Given the description of an element on the screen output the (x, y) to click on. 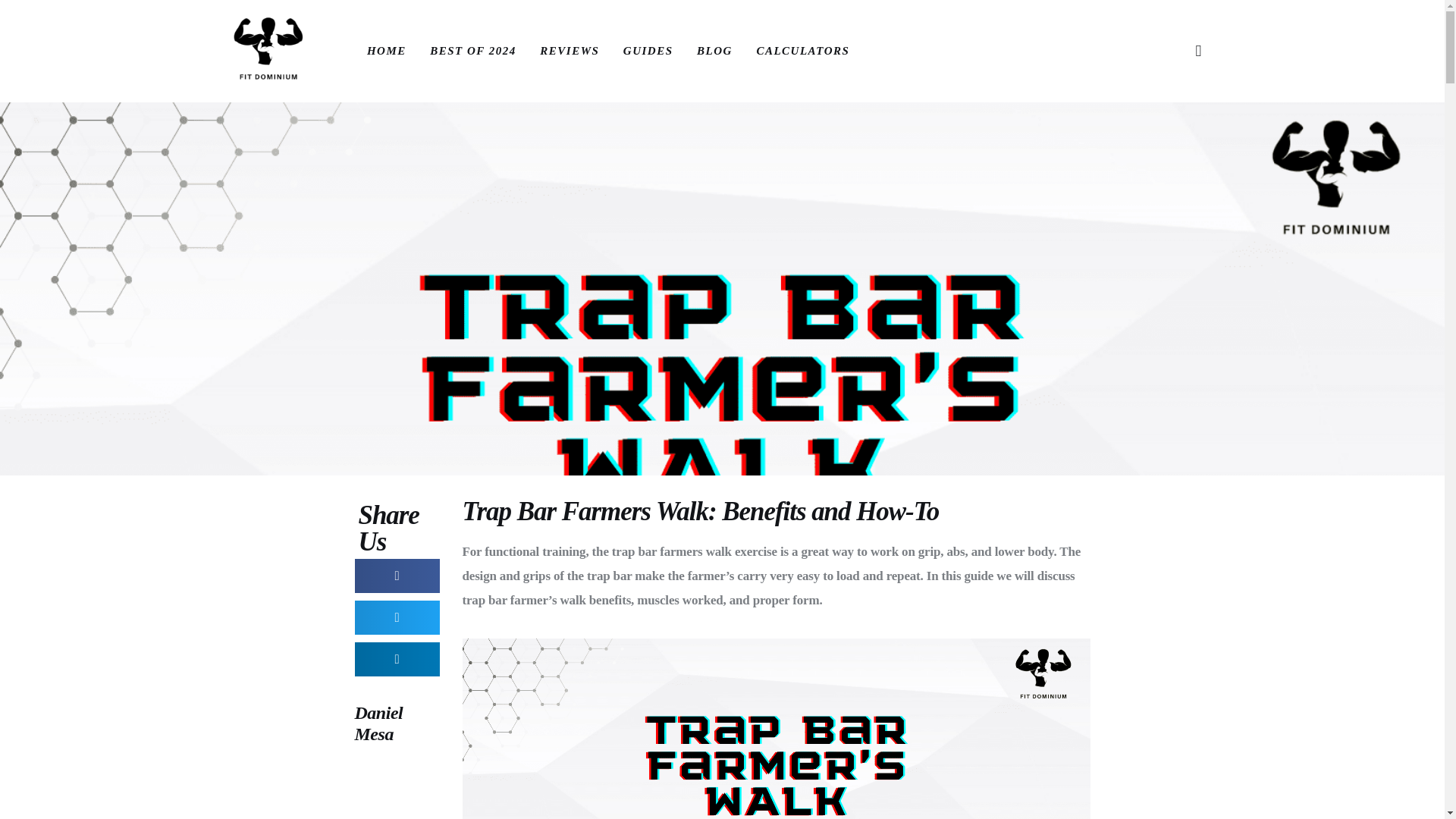
HOME (386, 50)
BEST OF 2024 (472, 50)
REVIEWS (569, 50)
BLOG (714, 50)
CALCULATORS (802, 50)
GUIDES (647, 50)
